Given the description of an element on the screen output the (x, y) to click on. 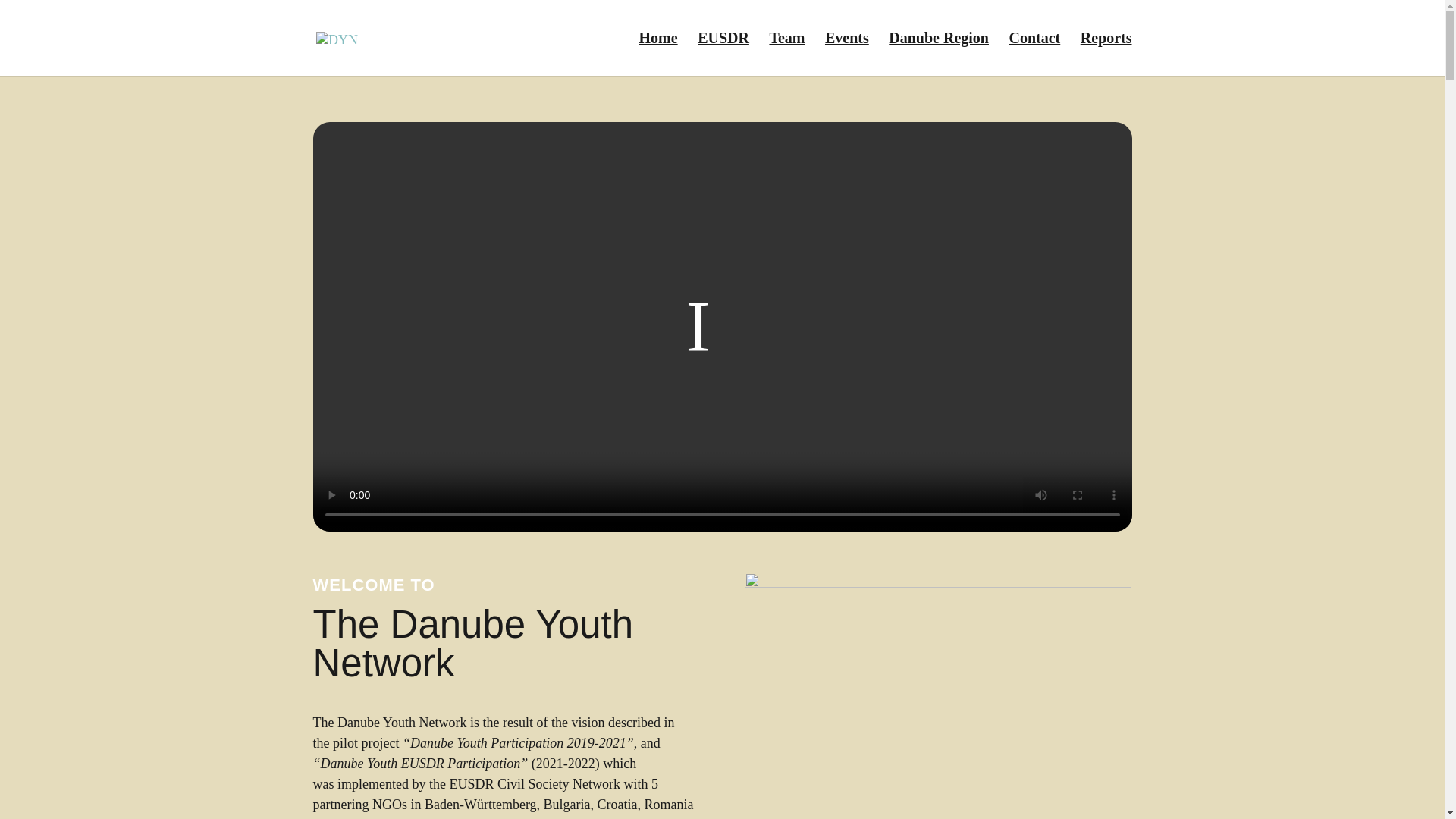
Events (847, 54)
Home (658, 54)
Reports (1106, 54)
EUSDR (723, 54)
Team (786, 54)
Contact (1034, 54)
ngo-illustration-Artboard-10 copy (937, 695)
Danube Region (938, 54)
